Given the description of an element on the screen output the (x, y) to click on. 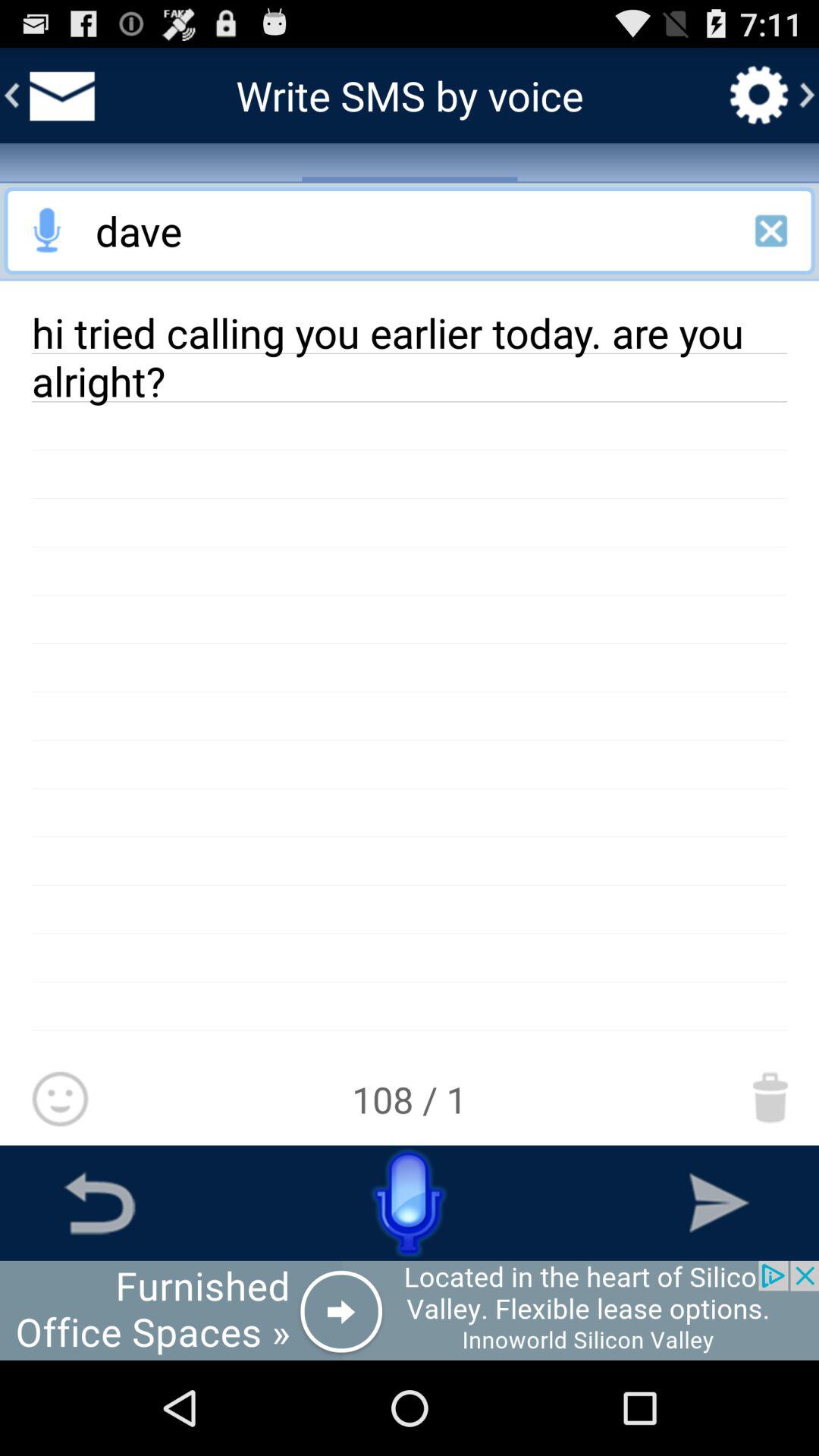
exit text to speech mode (771, 230)
